Given the description of an element on the screen output the (x, y) to click on. 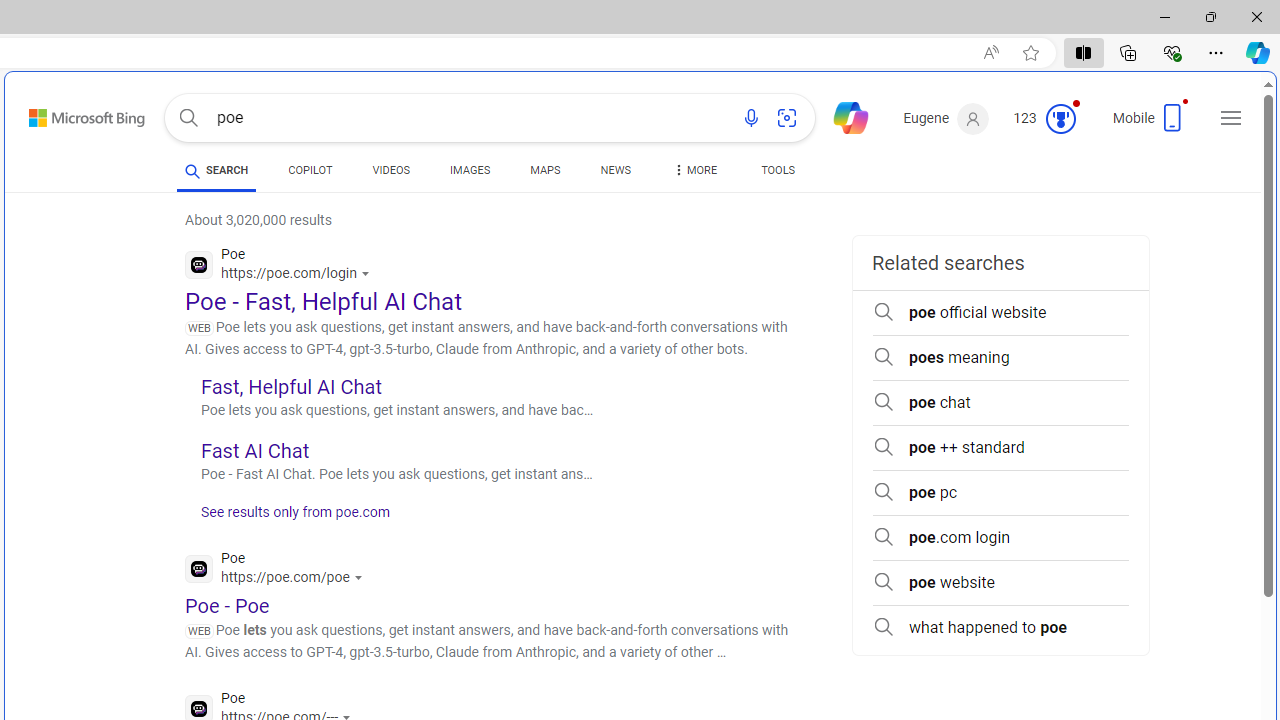
Global web icon (198, 708)
Actions for this site (360, 577)
Eugene (945, 119)
Chat (842, 116)
Poe - Poe (227, 605)
Back to Bing search (74, 113)
Microsoft Rewards 123 (1046, 119)
Search using an image (787, 117)
